Given the description of an element on the screen output the (x, y) to click on. 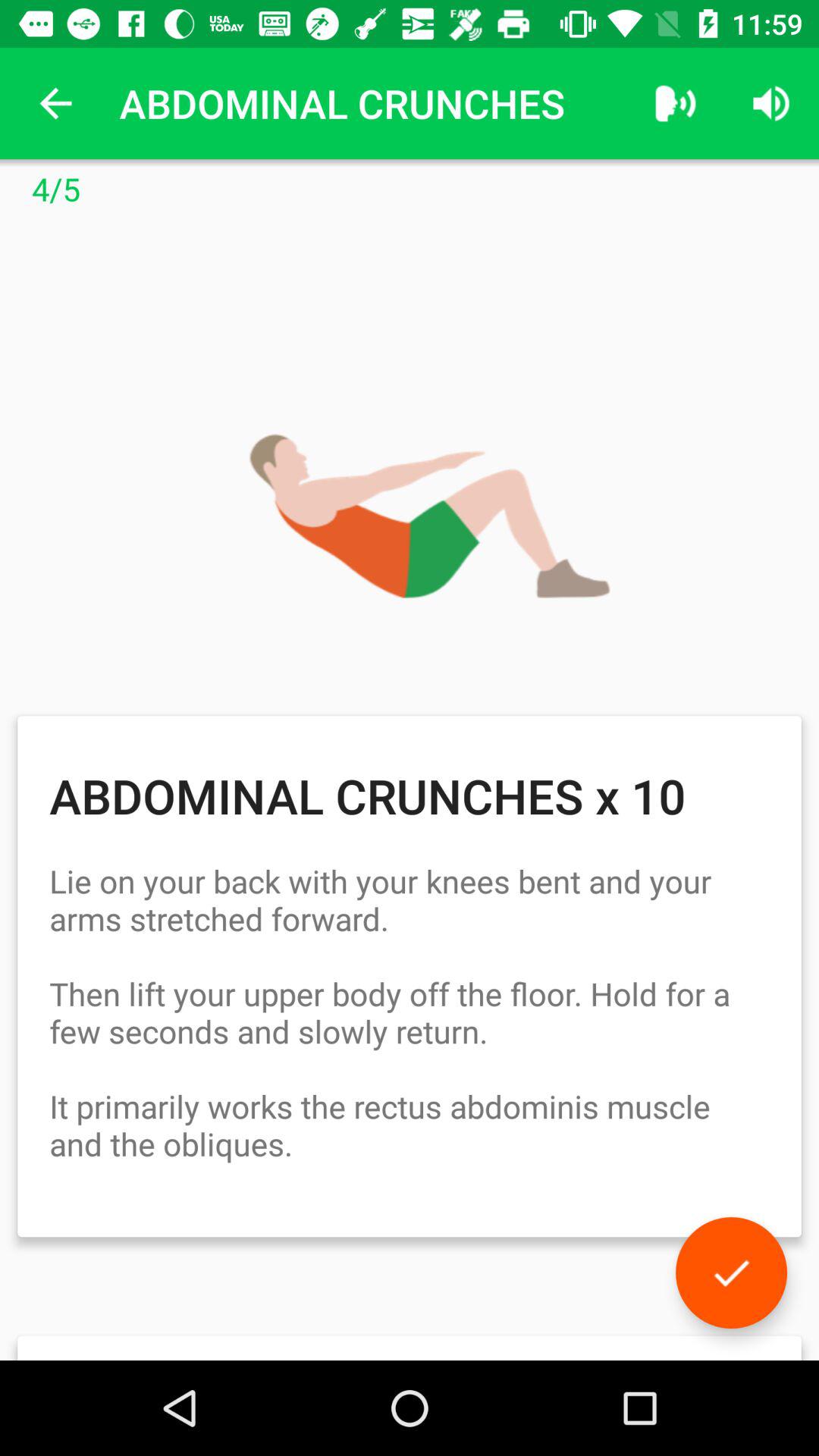
press the app next to the abdominal crunches icon (675, 103)
